Given the description of an element on the screen output the (x, y) to click on. 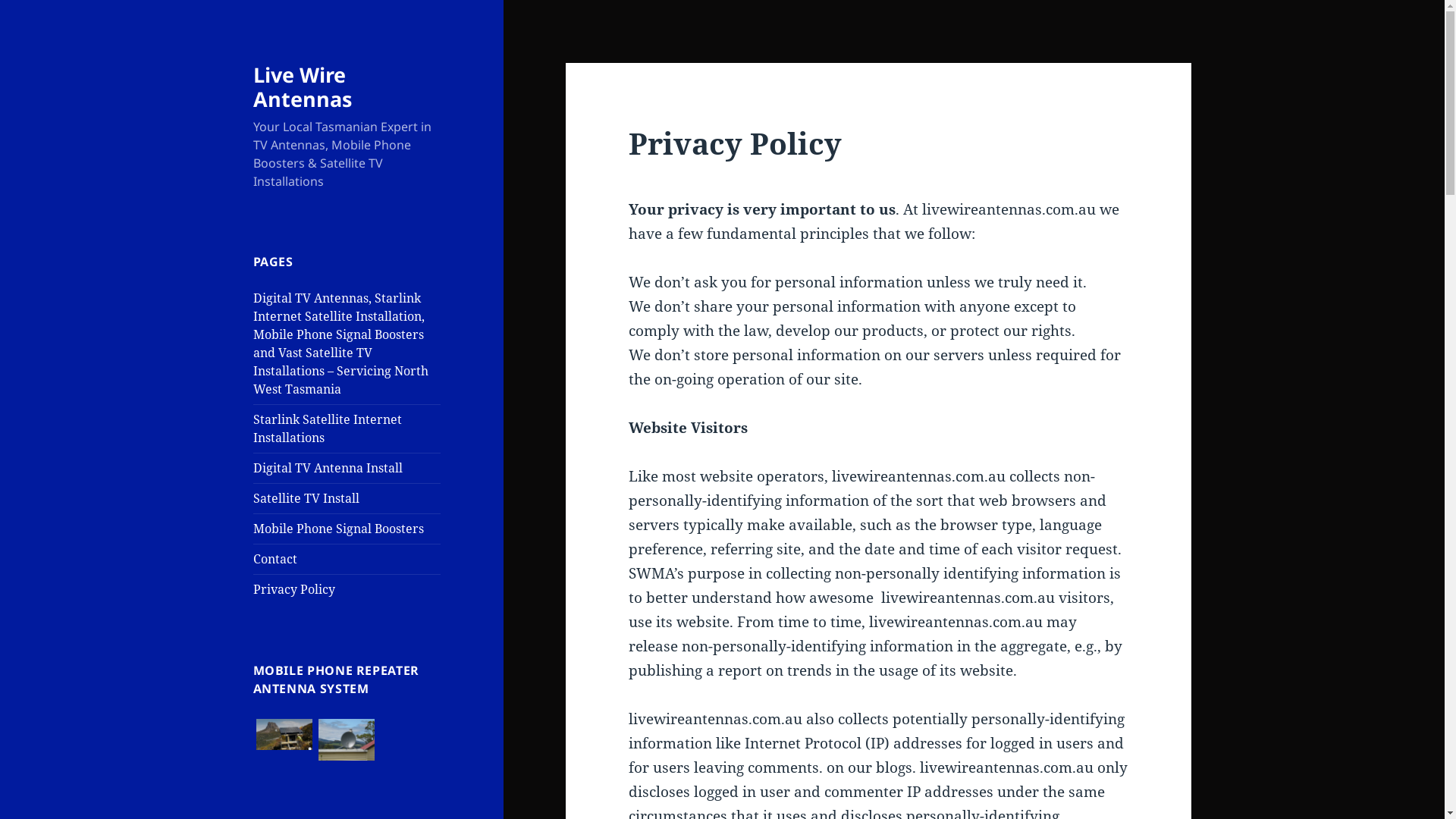
Starlink Satellite Internet Installations Element type: text (327, 428)
Contact Element type: text (275, 558)
Mobile Phone Signal Boosters Element type: text (338, 528)
Live Wire Antennas Element type: text (302, 86)
Privacy Policy Element type: text (294, 588)
Satellite TV Install Element type: text (306, 497)
Digital TV Antenna Install Element type: text (327, 467)
